Given the description of an element on the screen output the (x, y) to click on. 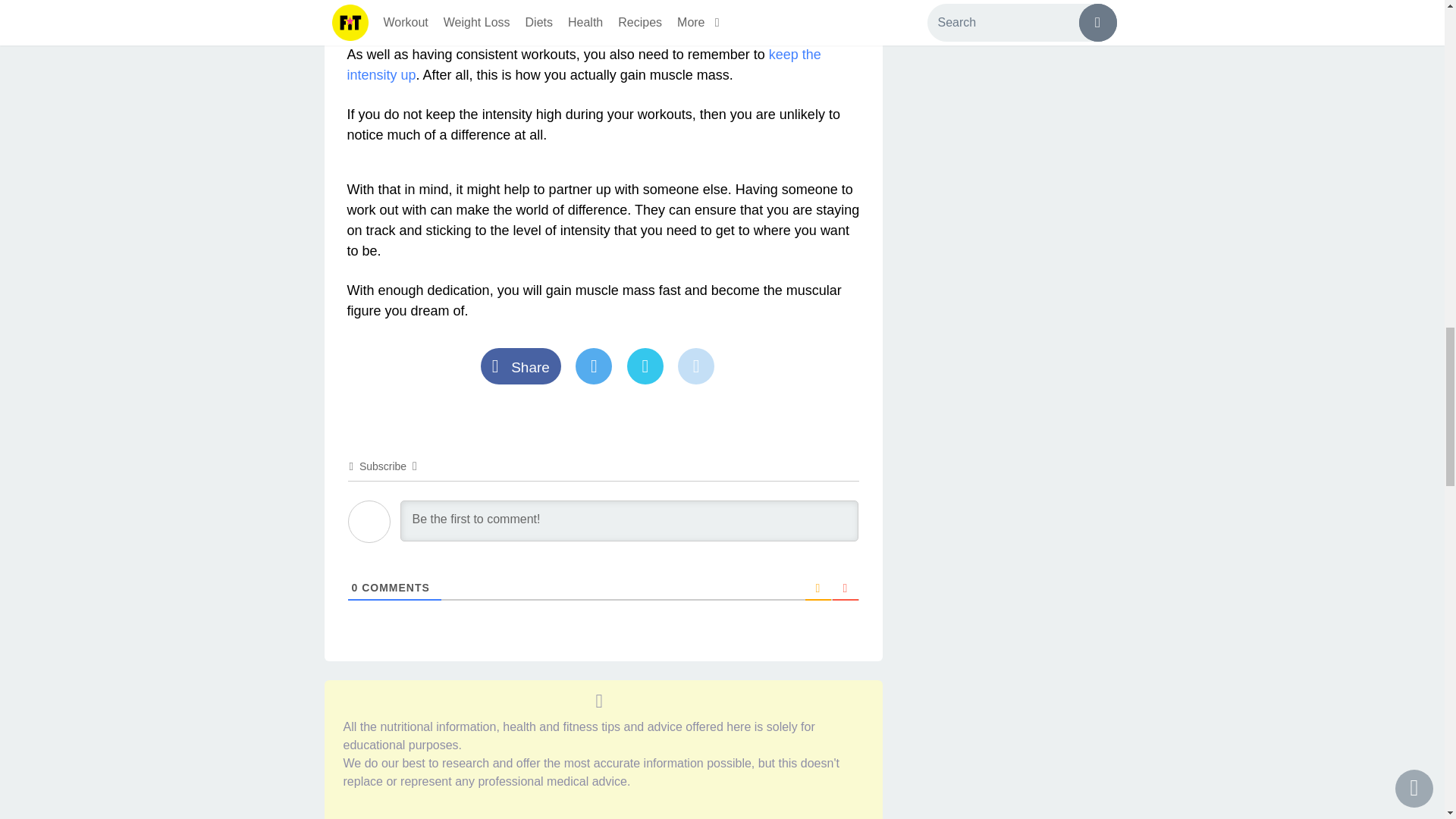
Share (528, 367)
keep the intensity up (584, 64)
Disclaimer and information (598, 700)
0 (355, 587)
